Given the description of an element on the screen output the (x, y) to click on. 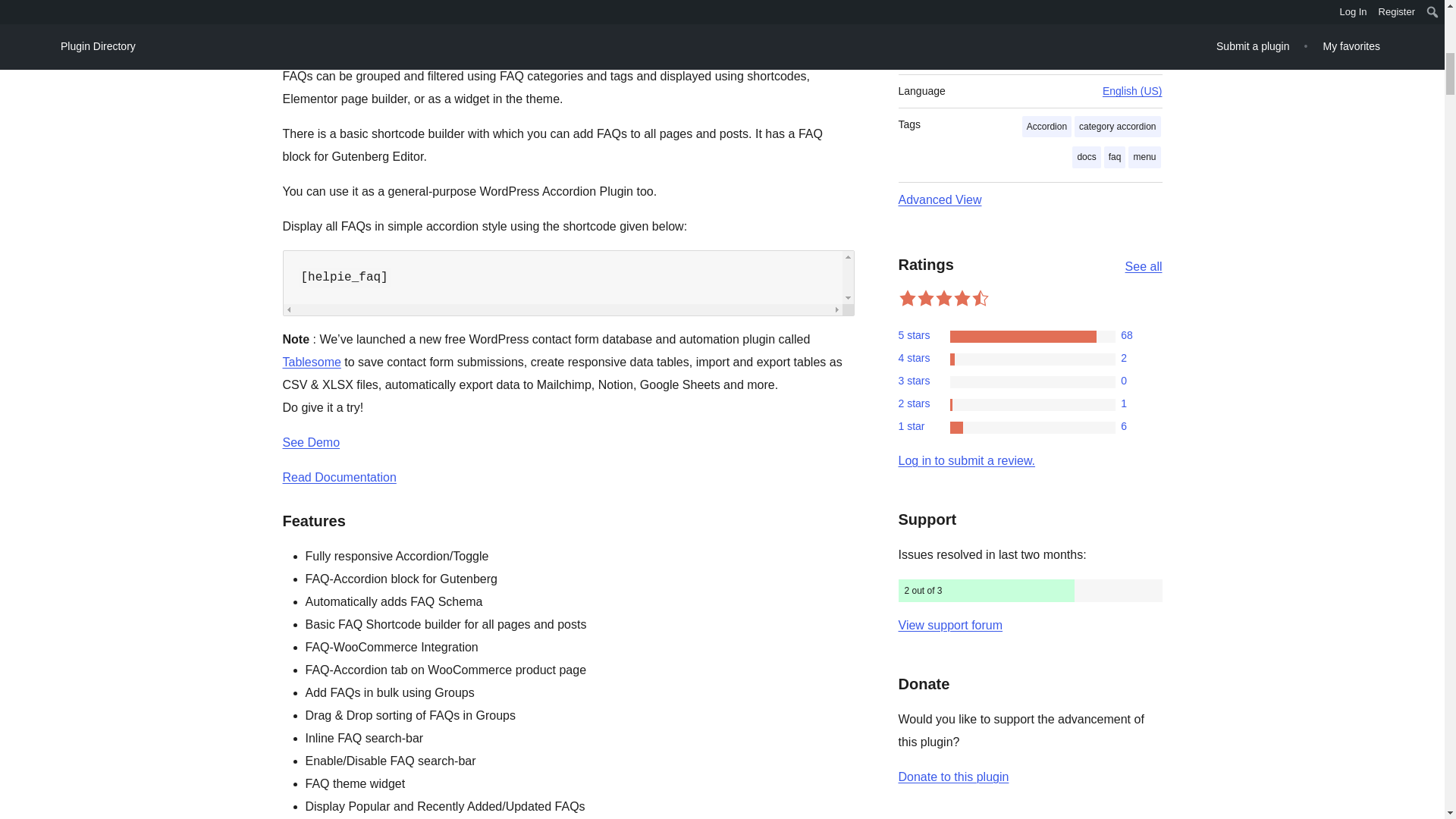
Log in to WordPress.org (966, 460)
Read Documentation (339, 477)
See Demo (310, 441)
Tablesome (311, 361)
